Given the description of an element on the screen output the (x, y) to click on. 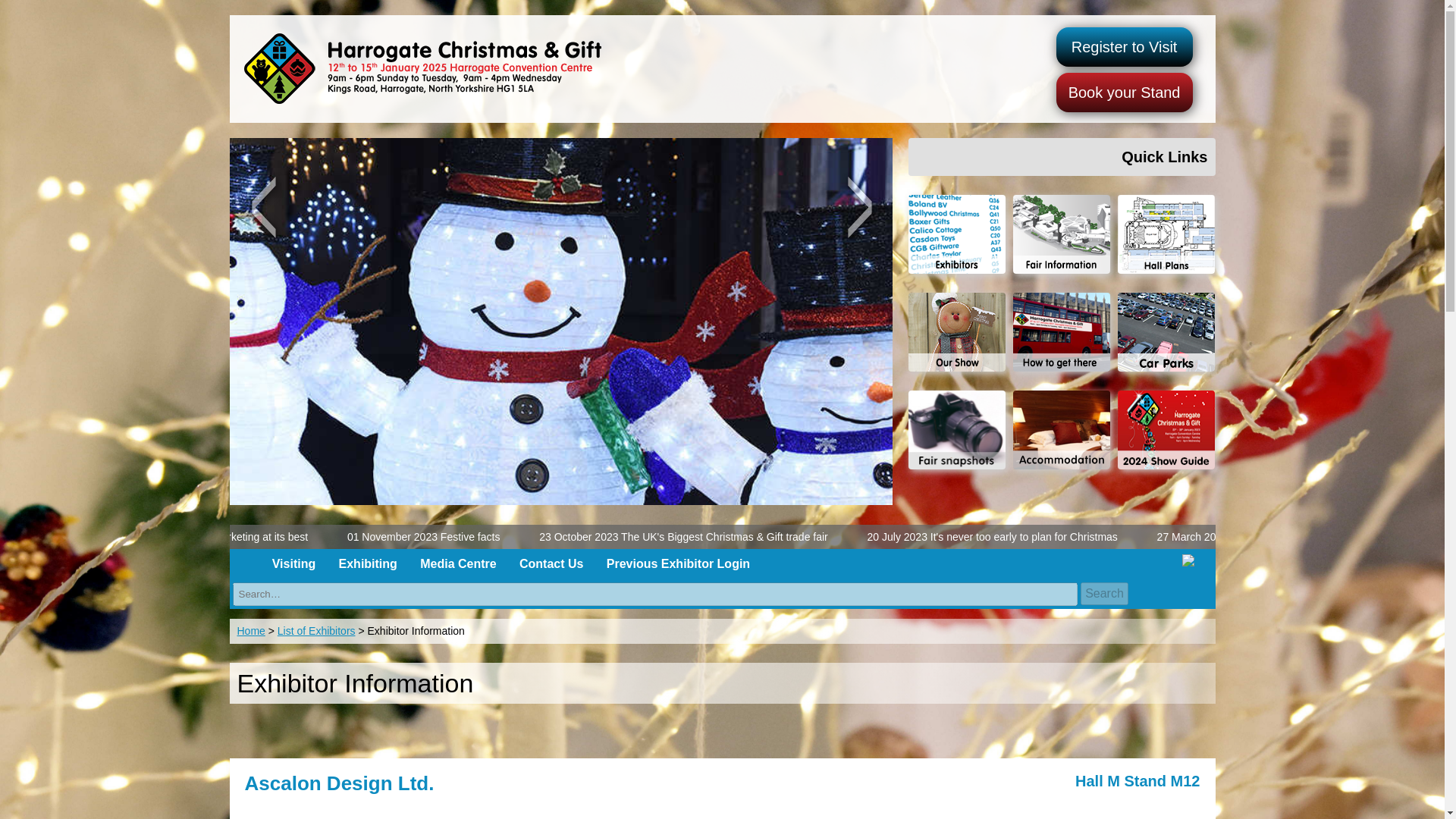
How to get there (1166, 341)
Search (1104, 593)
Book your Stand (1124, 92)
Fair Information (1065, 243)
How to get there (1065, 341)
Return to the home page (417, 67)
Accommodation (1065, 429)
2023 Digital Show Guide (1166, 429)
Register to Visit (1124, 46)
Fair Snapshot (960, 429)
Hall Plans (1166, 243)
Our Show (960, 341)
